Given the description of an element on the screen output the (x, y) to click on. 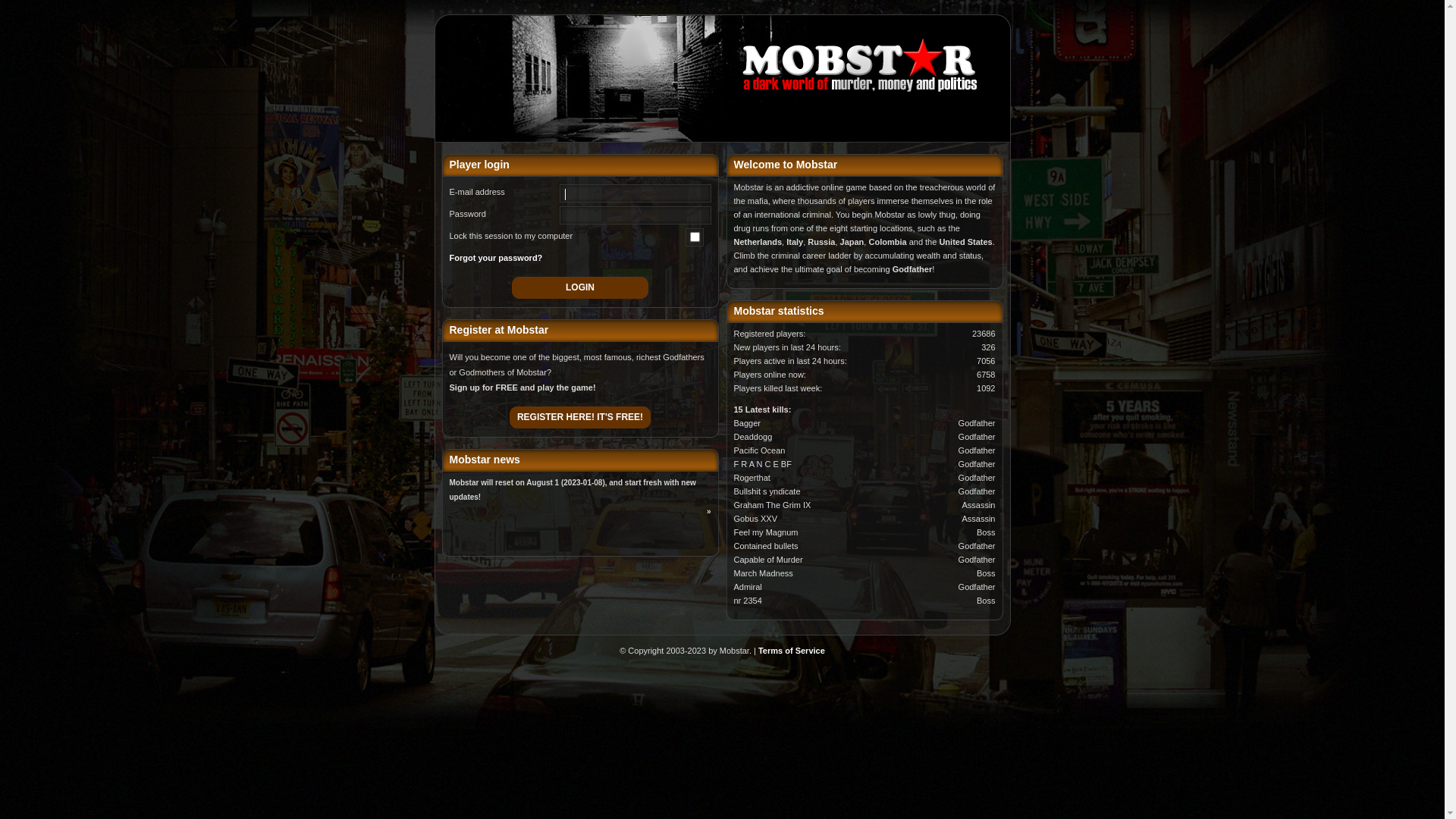
REGISTER HERE! IT'S FREE! Element type: text (579, 417)
LOGIN Element type: text (579, 287)
Forgot your password? Element type: text (495, 257)
Terms of Service Element type: text (791, 650)
